Given the description of an element on the screen output the (x, y) to click on. 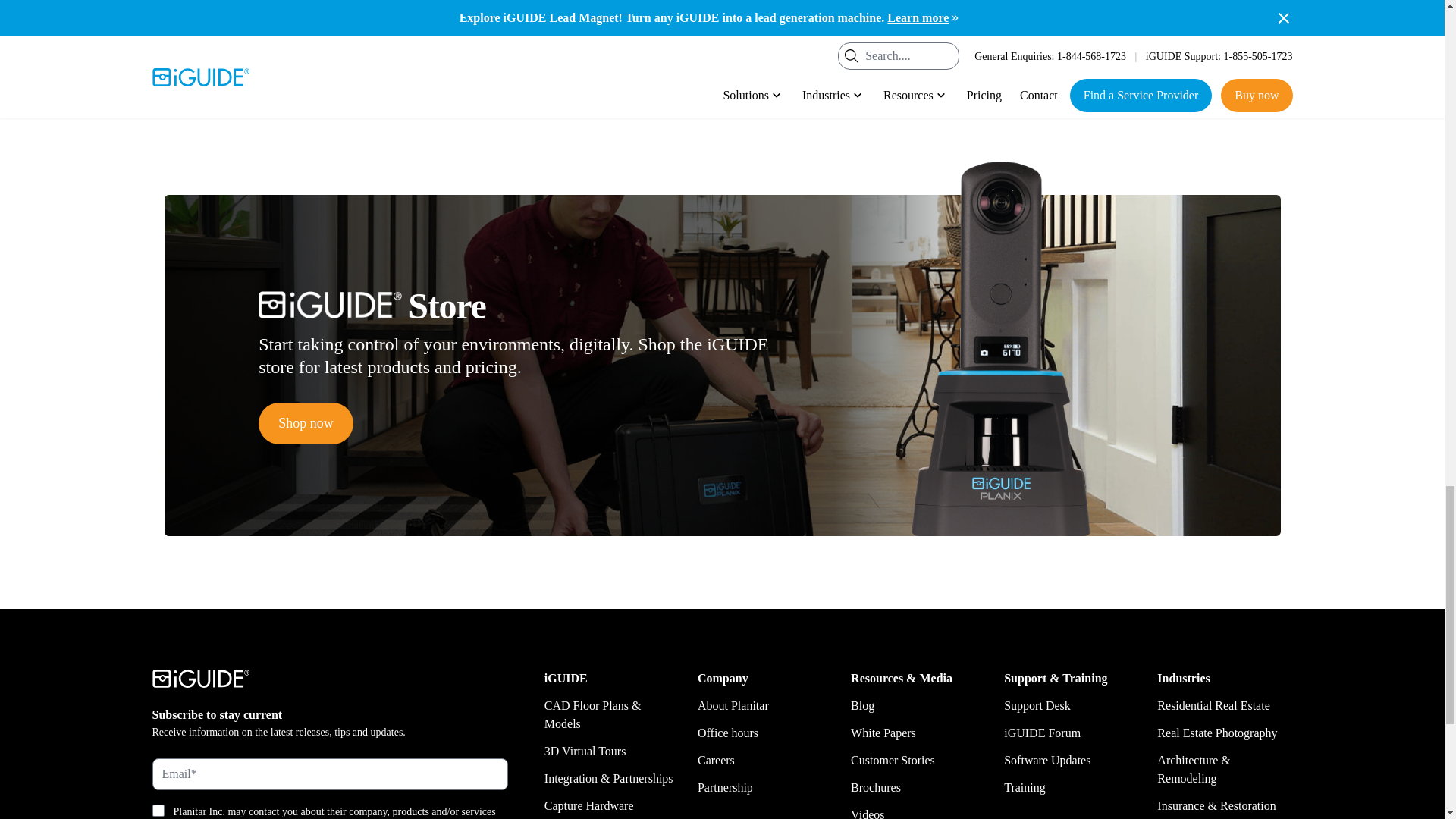
Email (576, 86)
Twitter (521, 86)
Facebook (493, 86)
LinkedIn (548, 86)
true (157, 810)
